Given the description of an element on the screen output the (x, y) to click on. 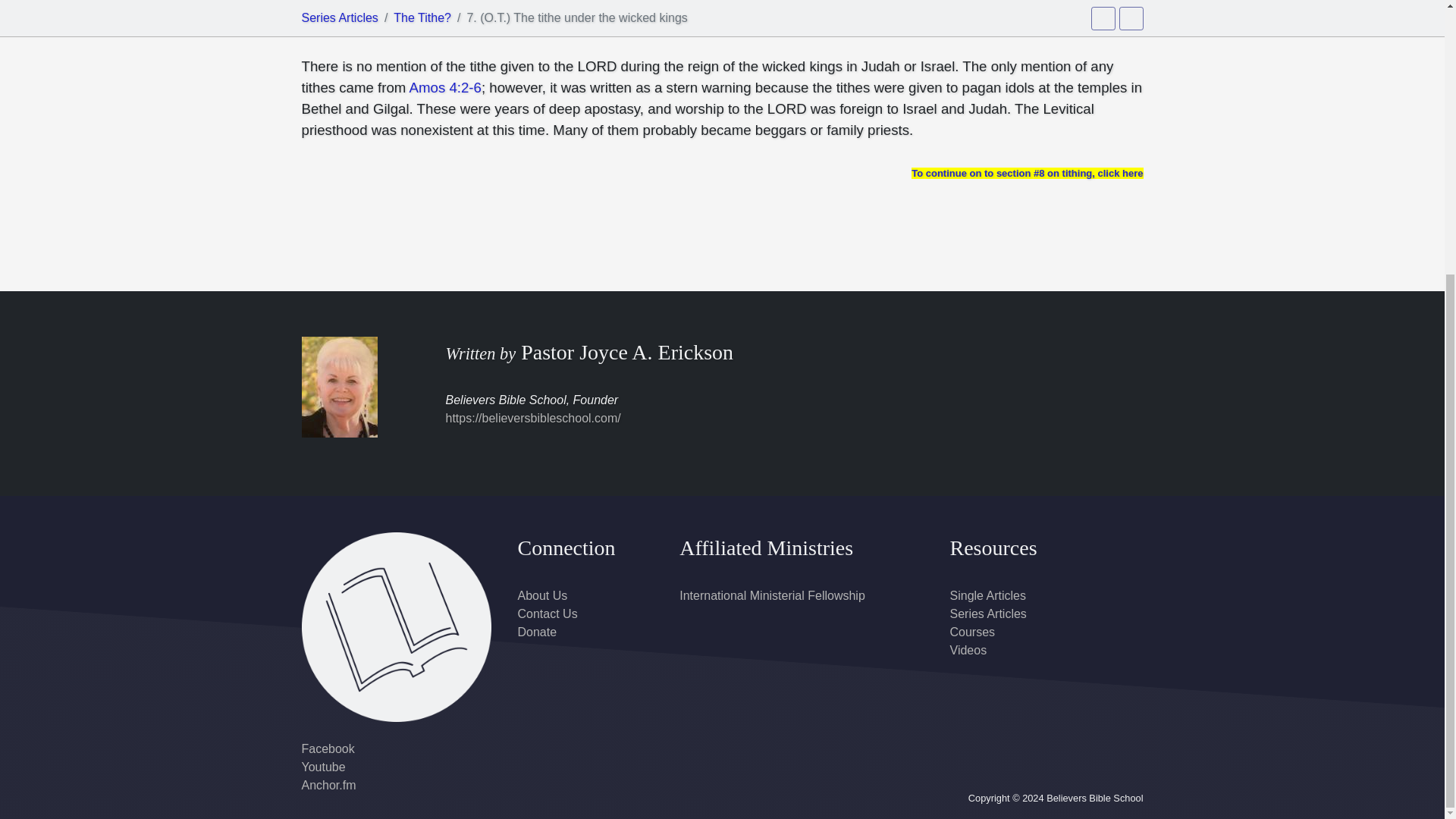
Series Articles (987, 613)
Videos (968, 649)
Courses (971, 631)
Single Articles (987, 594)
Amos 4:2-6 (445, 87)
International Ministerial Fellowship (771, 594)
International Ministerial Fellowship (771, 594)
Anchor.fm (328, 784)
Youtube (323, 766)
Facebook (328, 748)
Donate (536, 631)
Contact Us (546, 613)
About Us (541, 594)
Amos 4:2-6 (721, 6)
